Given the description of an element on the screen output the (x, y) to click on. 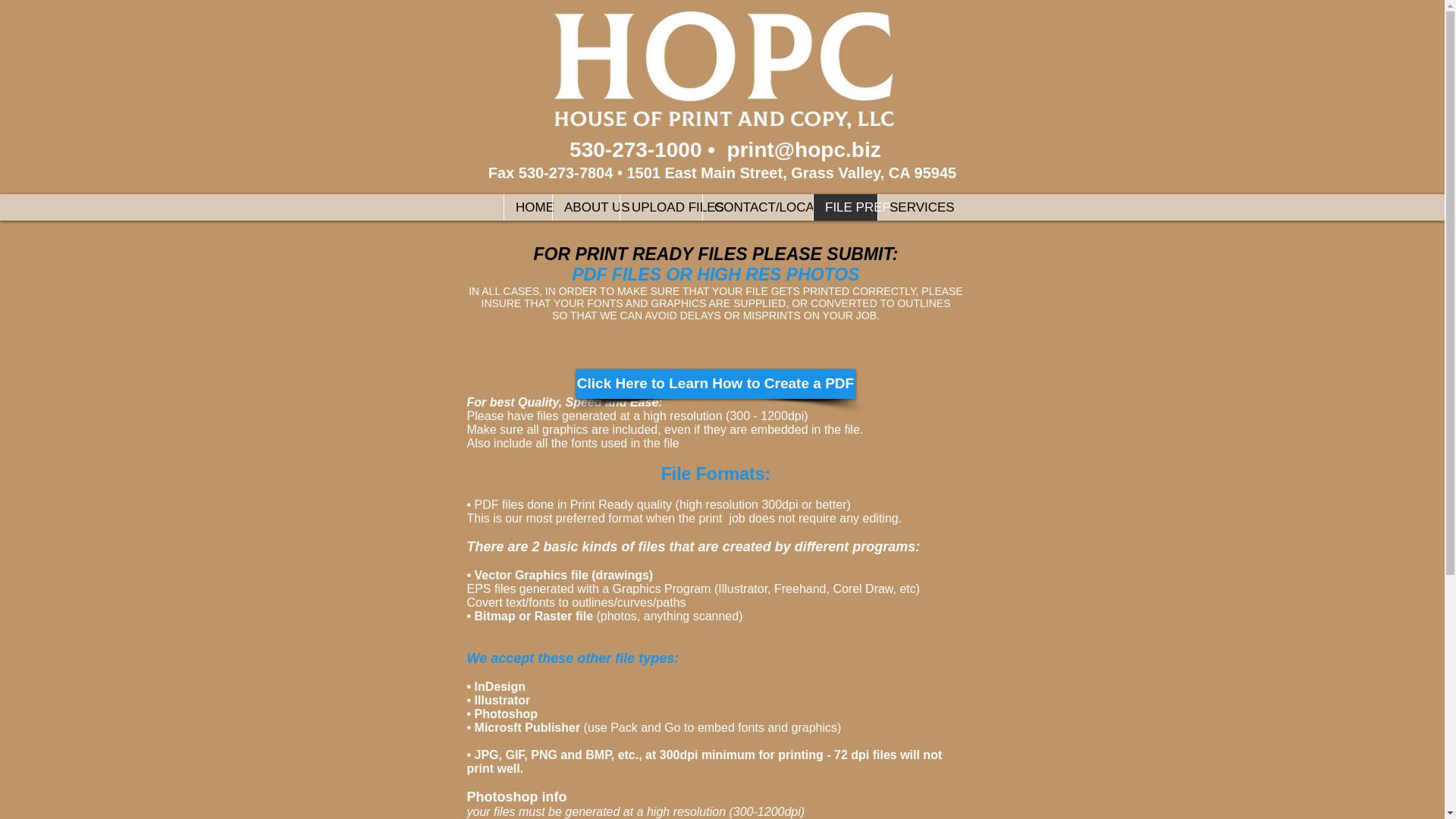
SERVICES (908, 207)
ABOUT US (585, 207)
1501 East Main Street, Grass Valley, CA 95945 (791, 172)
Click Here to Learn How to Create a PDF (716, 383)
UPLOAD FILES (660, 207)
FILE PREP (844, 207)
530-273-1000  (638, 149)
HOME (527, 207)
